Given the description of an element on the screen output the (x, y) to click on. 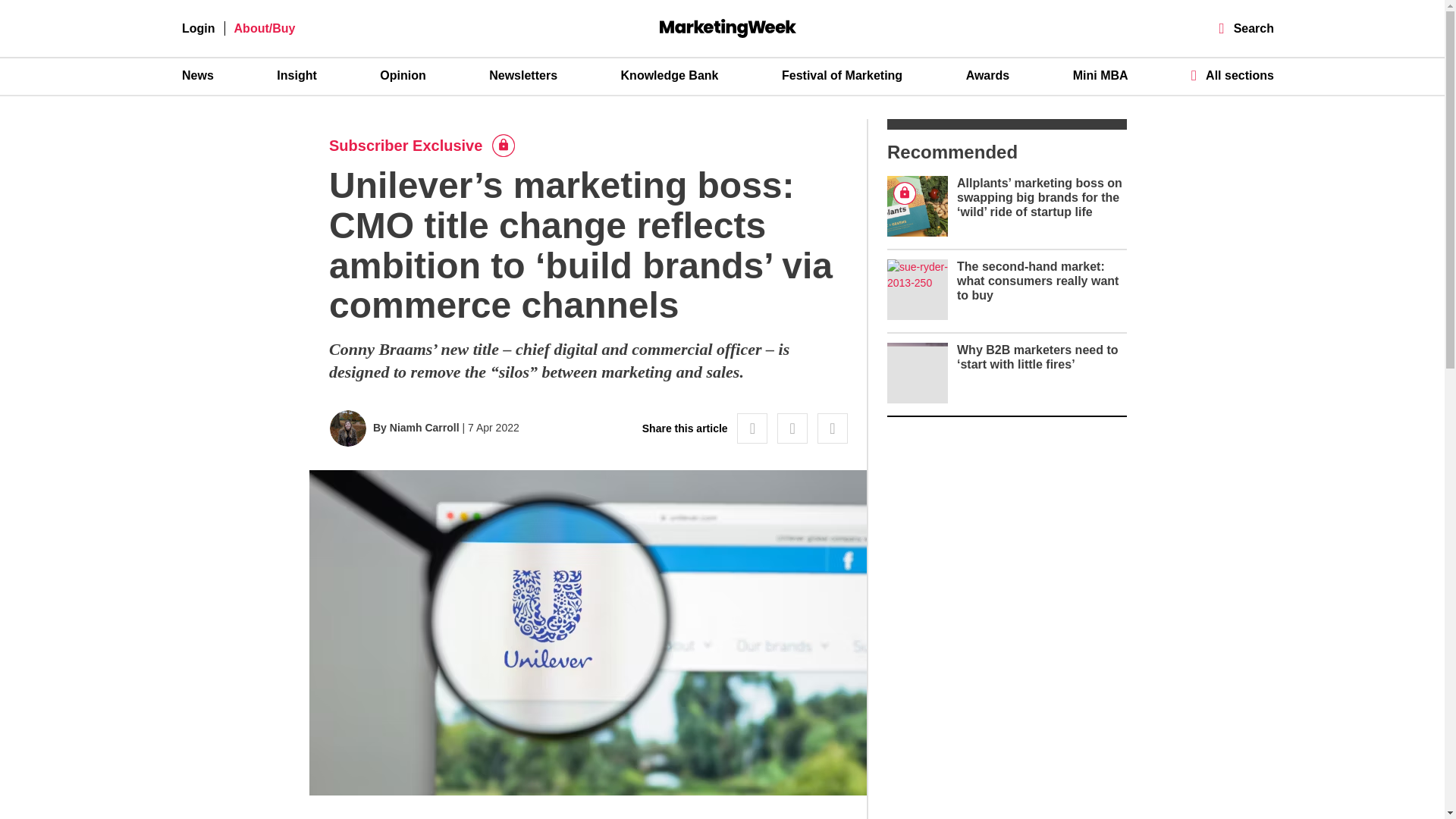
Search (1247, 28)
Awards (988, 75)
Mini MBA (1100, 75)
Search (1247, 28)
The second-hand market: what consumers really want to buy (1037, 281)
Festival of Marketing (841, 75)
Login (198, 28)
Knowledge Bank (670, 75)
Opinion (402, 75)
All sections (1232, 74)
